Given the description of an element on the screen output the (x, y) to click on. 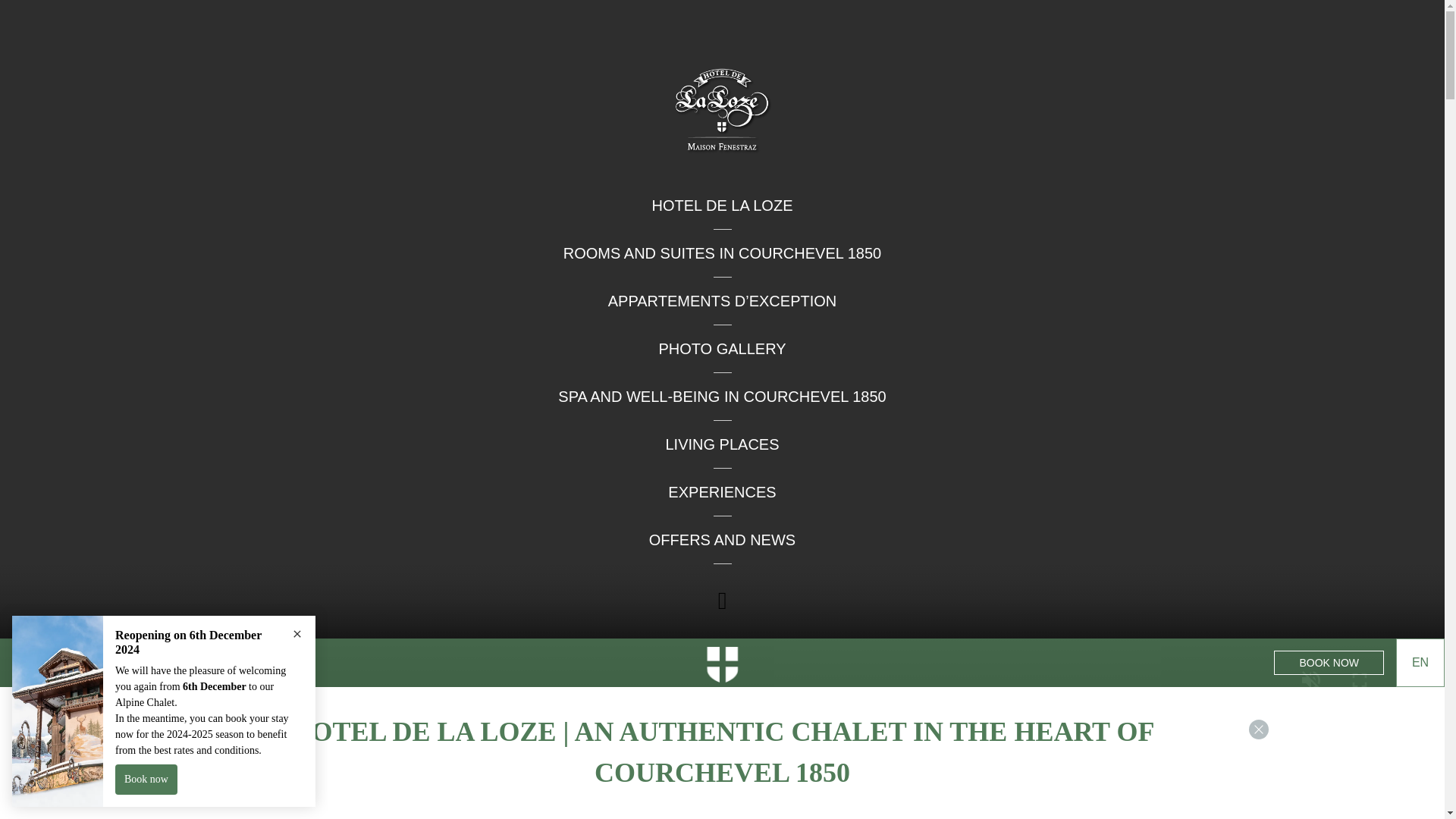
Overlay Message (163, 711)
EXPERIENCES (722, 492)
PHOTO GALLERY (722, 348)
HOTEL DE LA LOZE (722, 205)
greeting (1350, 737)
launcher (1403, 790)
ROOMS AND SUITES IN COURCHEVEL 1850 (721, 252)
BOOK NOW (1329, 662)
SPA AND WELL-BEING IN COURCHEVEL 1850 (721, 396)
LIVING PLACES (721, 443)
OFFERS AND NEWS (721, 539)
CONTACT US (107, 662)
